Given the description of an element on the screen output the (x, y) to click on. 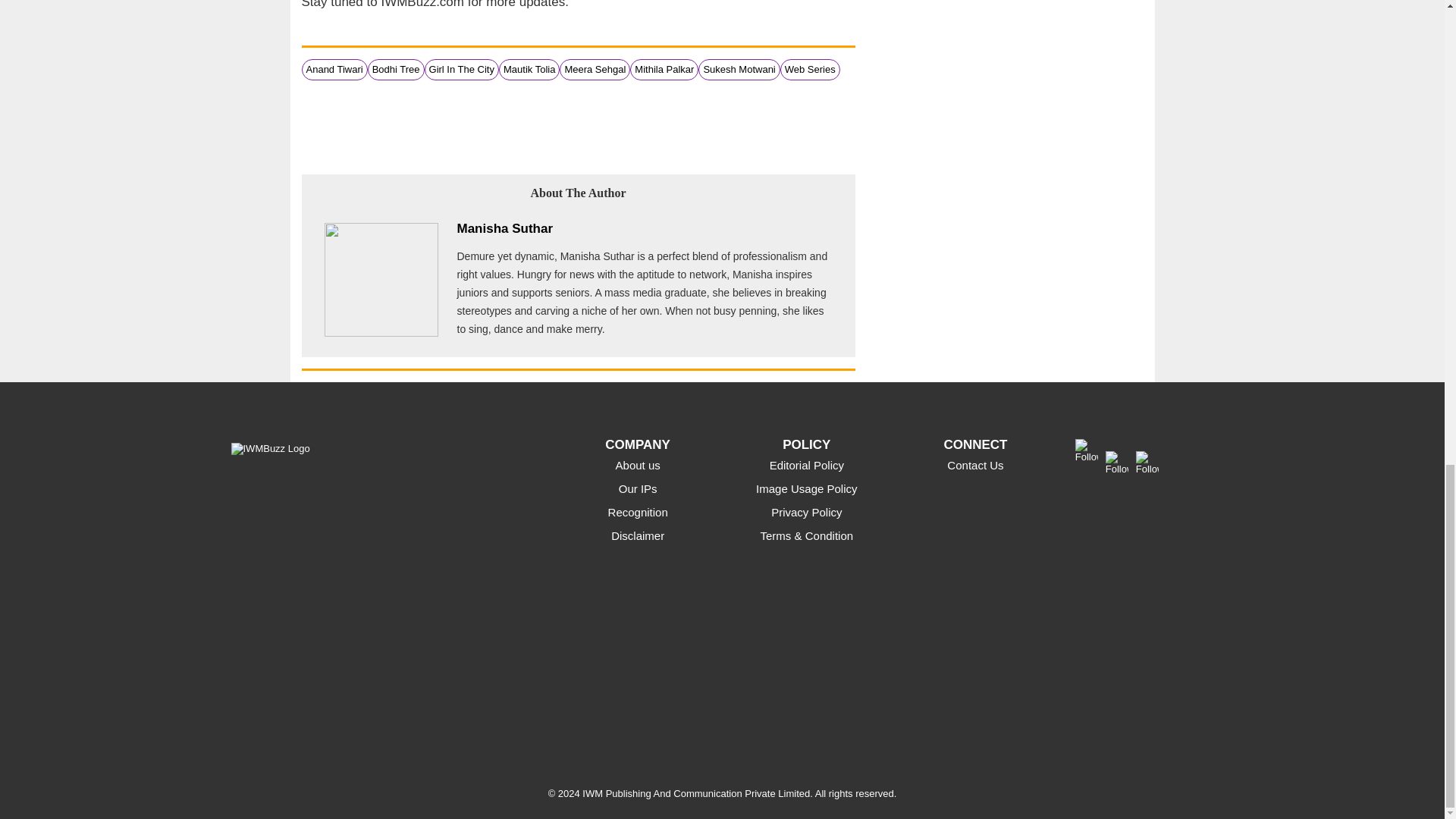
Girl In The City (462, 69)
Meera Sehgal (595, 69)
Mithila Palkar (664, 69)
Web Series (809, 69)
Mautik Tolia (528, 69)
Anand Tiwari (333, 69)
Manisha Suthar (505, 228)
Bodhi Tree (396, 69)
Sukesh Motwani (738, 69)
